Given the description of an element on the screen output the (x, y) to click on. 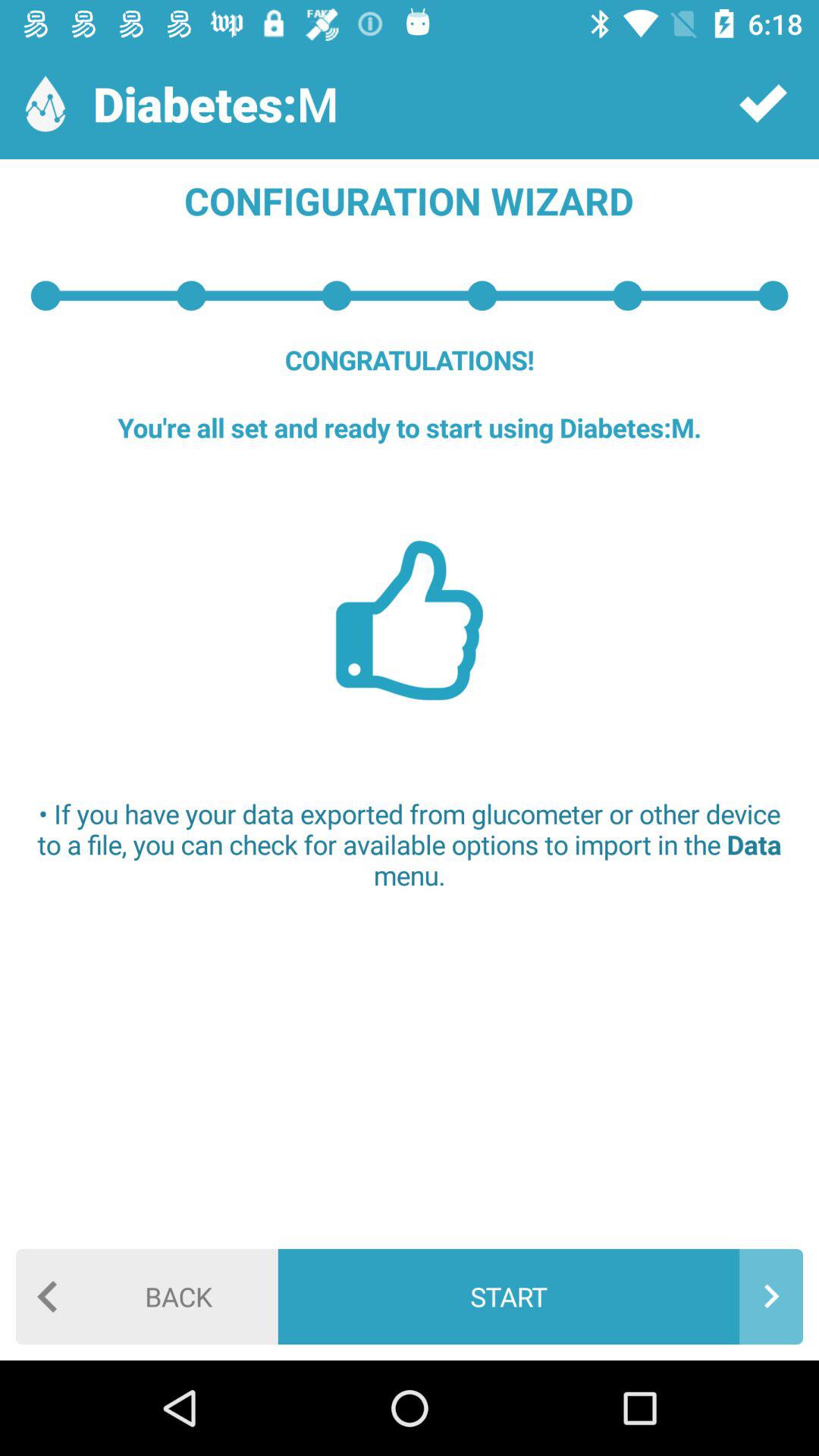
choose the item at the bottom left corner (146, 1296)
